Given the description of an element on the screen output the (x, y) to click on. 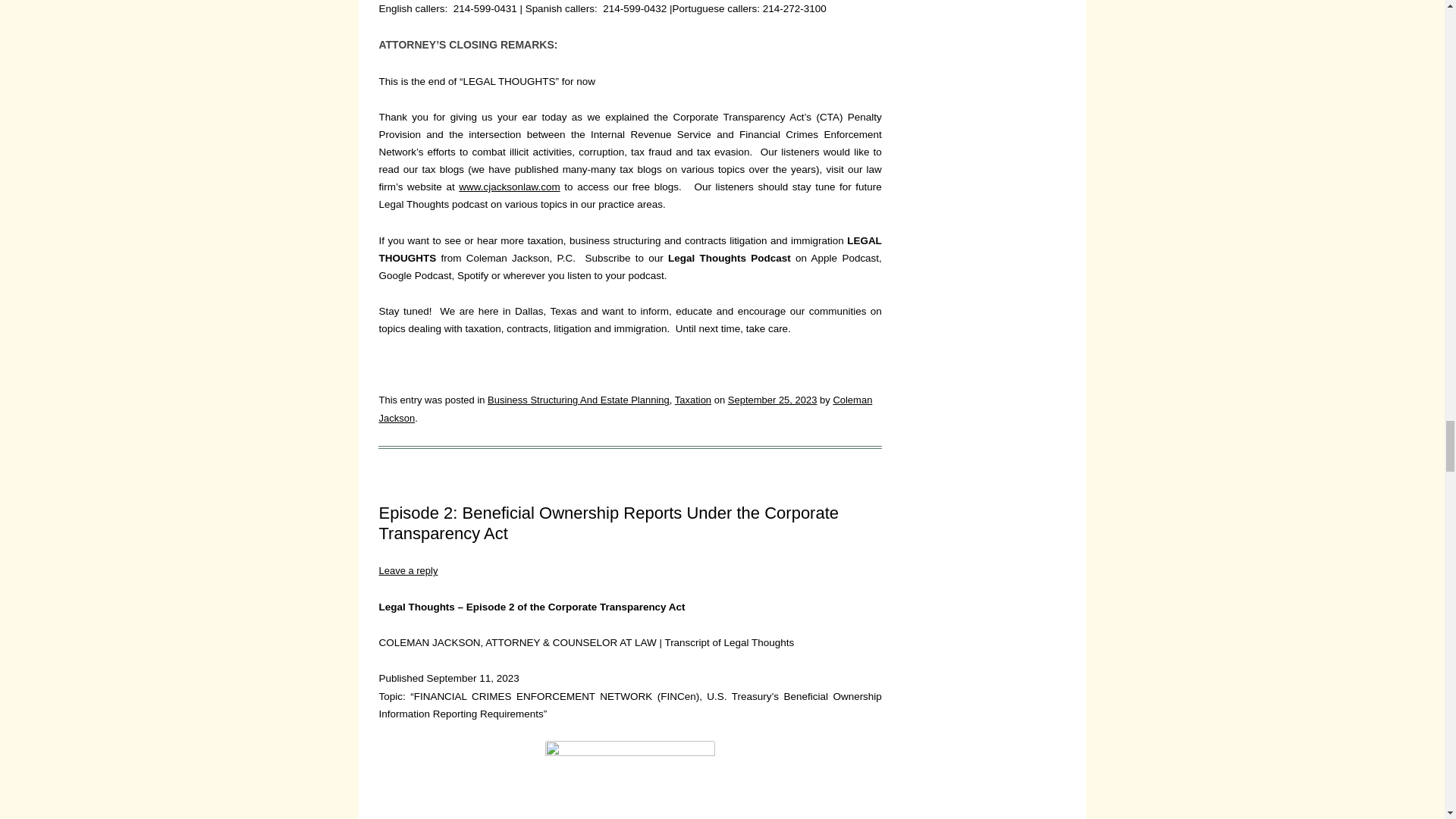
September 25, 2023 (772, 399)
Leave a reply (408, 570)
Coleman Jackson (625, 408)
www.cjacksonlaw.com (508, 186)
View all posts by Coleman Jackson (625, 408)
Business Structuring And Estate Planning (578, 399)
Taxation (693, 399)
7:00 am (772, 399)
